Given the description of an element on the screen output the (x, y) to click on. 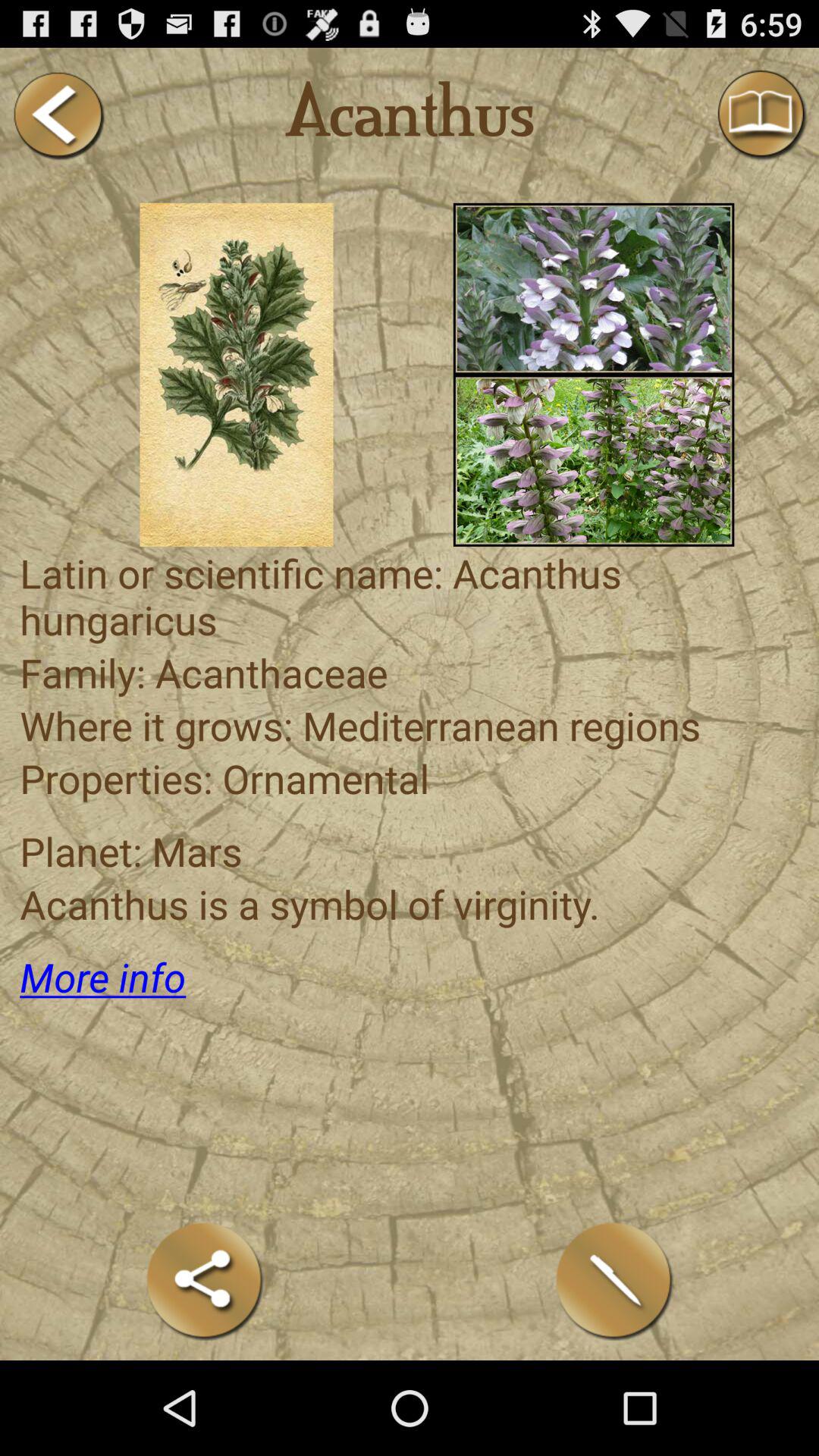
share (204, 1280)
